Given the description of an element on the screen output the (x, y) to click on. 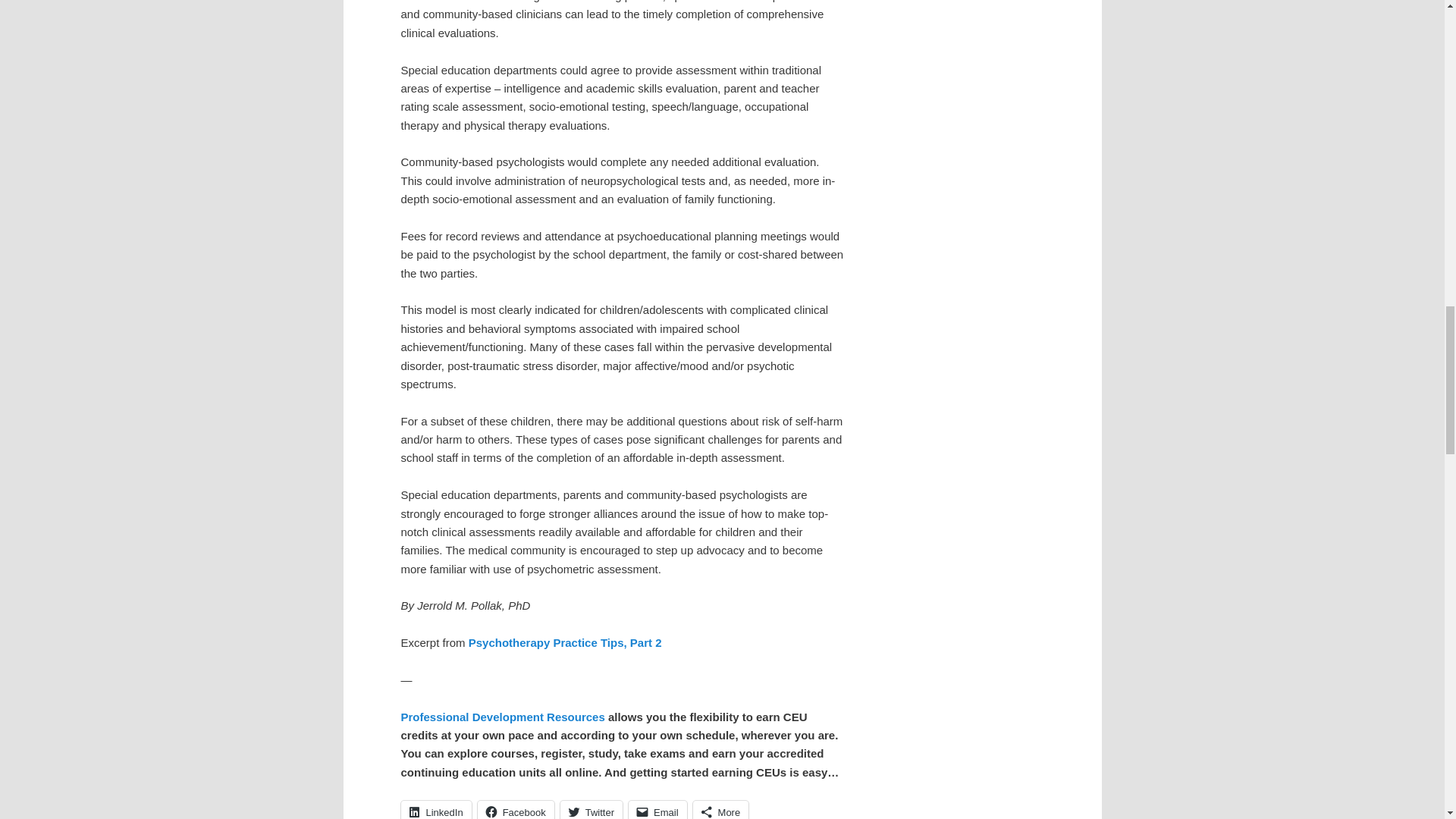
Facebook (515, 809)
Twitter (591, 809)
Click to share on Twitter (591, 809)
Click to share on Facebook (515, 809)
LinkedIn (435, 809)
Click to share on LinkedIn (435, 809)
Professional Development Resources (502, 716)
Email (657, 809)
More (721, 809)
Psychotherapy Practice Tips, Part 2 (565, 642)
Click to email a link to a friend (657, 809)
